Given the description of an element on the screen output the (x, y) to click on. 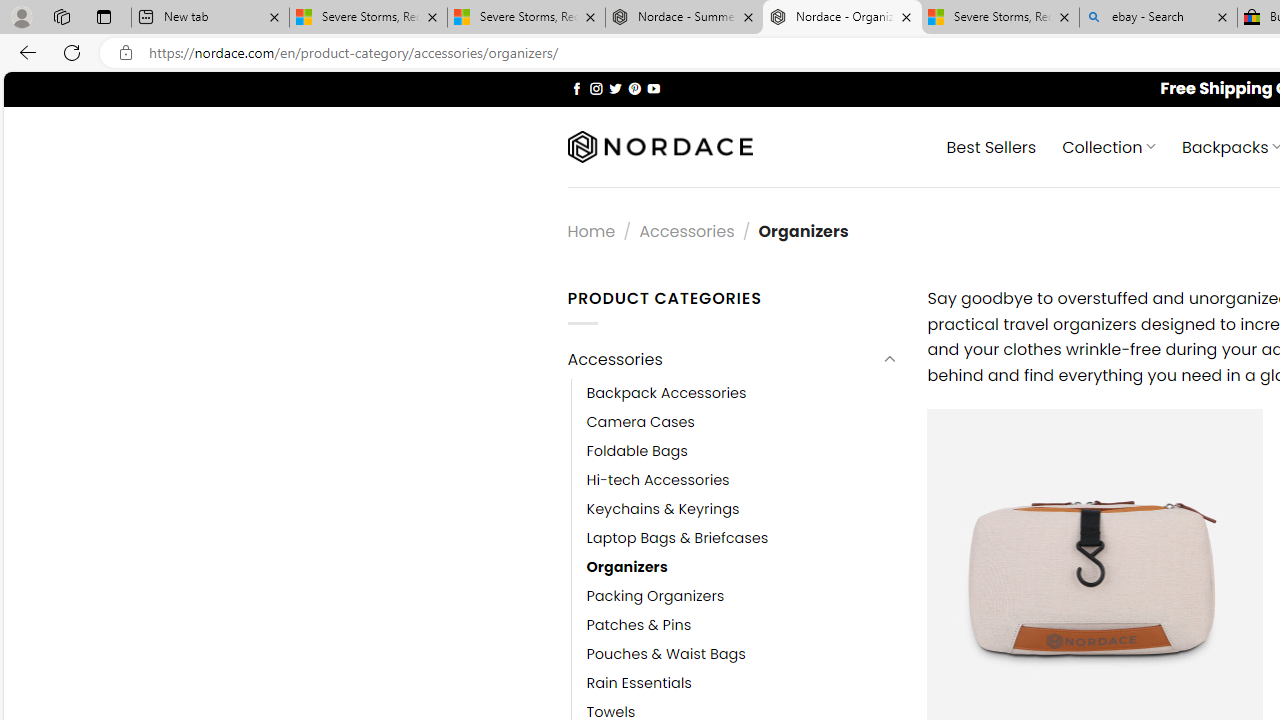
Camera Cases (640, 421)
Follow on Twitter (615, 88)
Close tab (1222, 16)
Organizers (627, 566)
Follow on YouTube (653, 88)
Laptop Bags & Briefcases (677, 537)
Organizers (742, 566)
Laptop Bags & Briefcases (742, 537)
Patches & Pins (639, 625)
Nordace (659, 147)
  Best Sellers (990, 146)
View site information (125, 53)
New tab (210, 17)
